Given the description of an element on the screen output the (x, y) to click on. 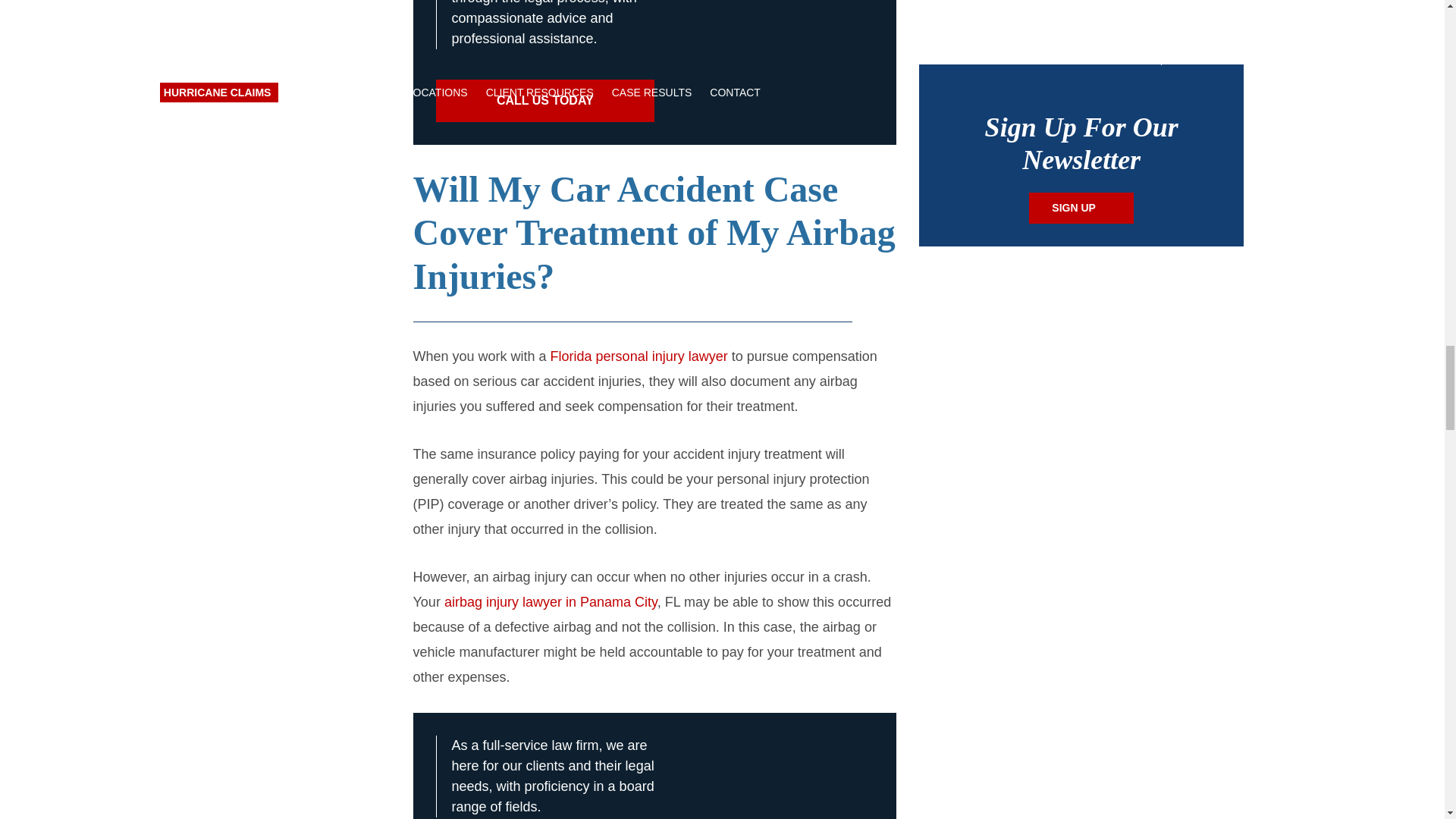
CALL US TODAY (544, 100)
